Given the description of an element on the screen output the (x, y) to click on. 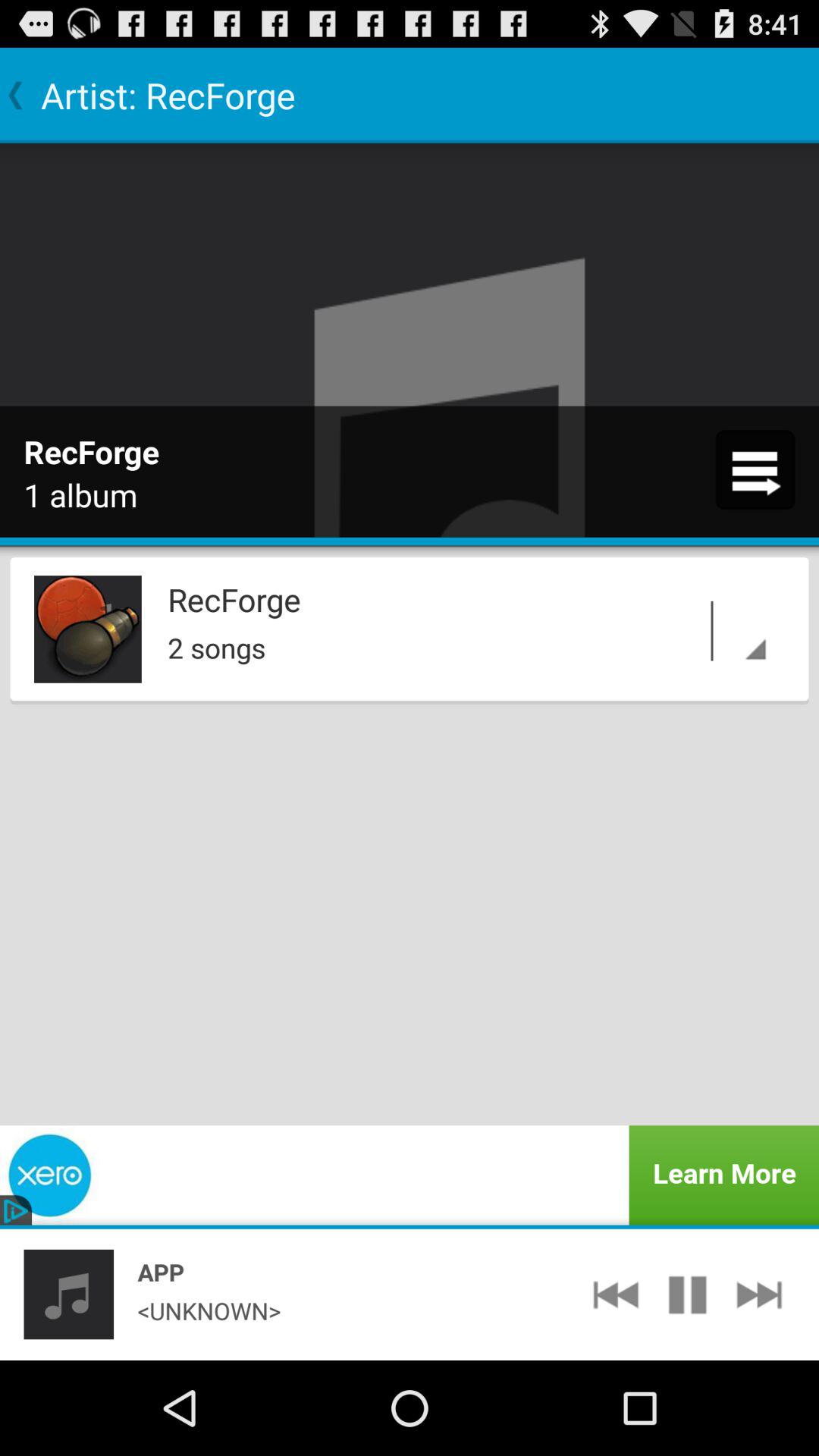
turn on app to the right of <unknown> app (615, 1294)
